Given the description of an element on the screen output the (x, y) to click on. 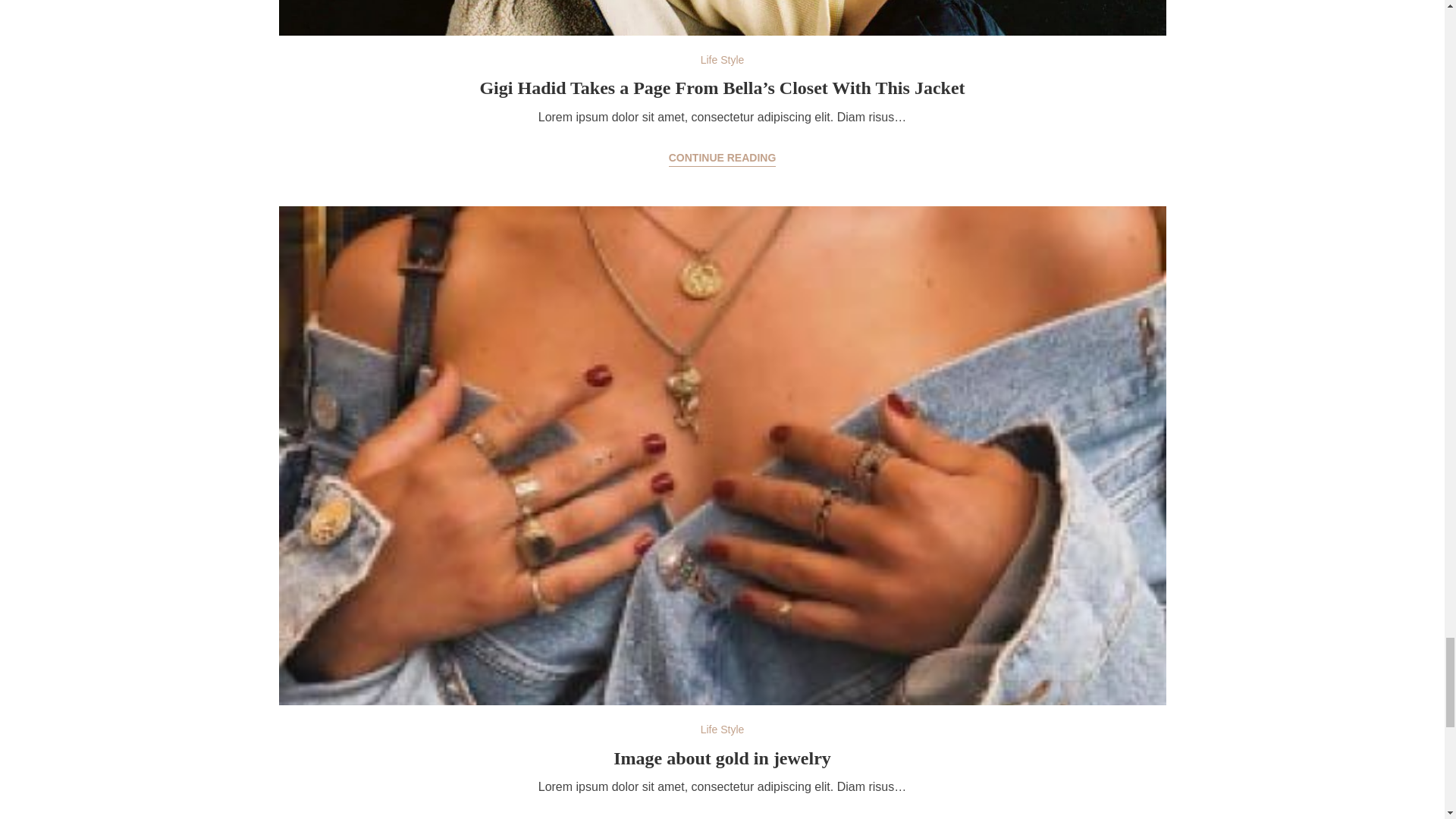
Image about gold in jewelry (721, 758)
